Given the description of an element on the screen output the (x, y) to click on. 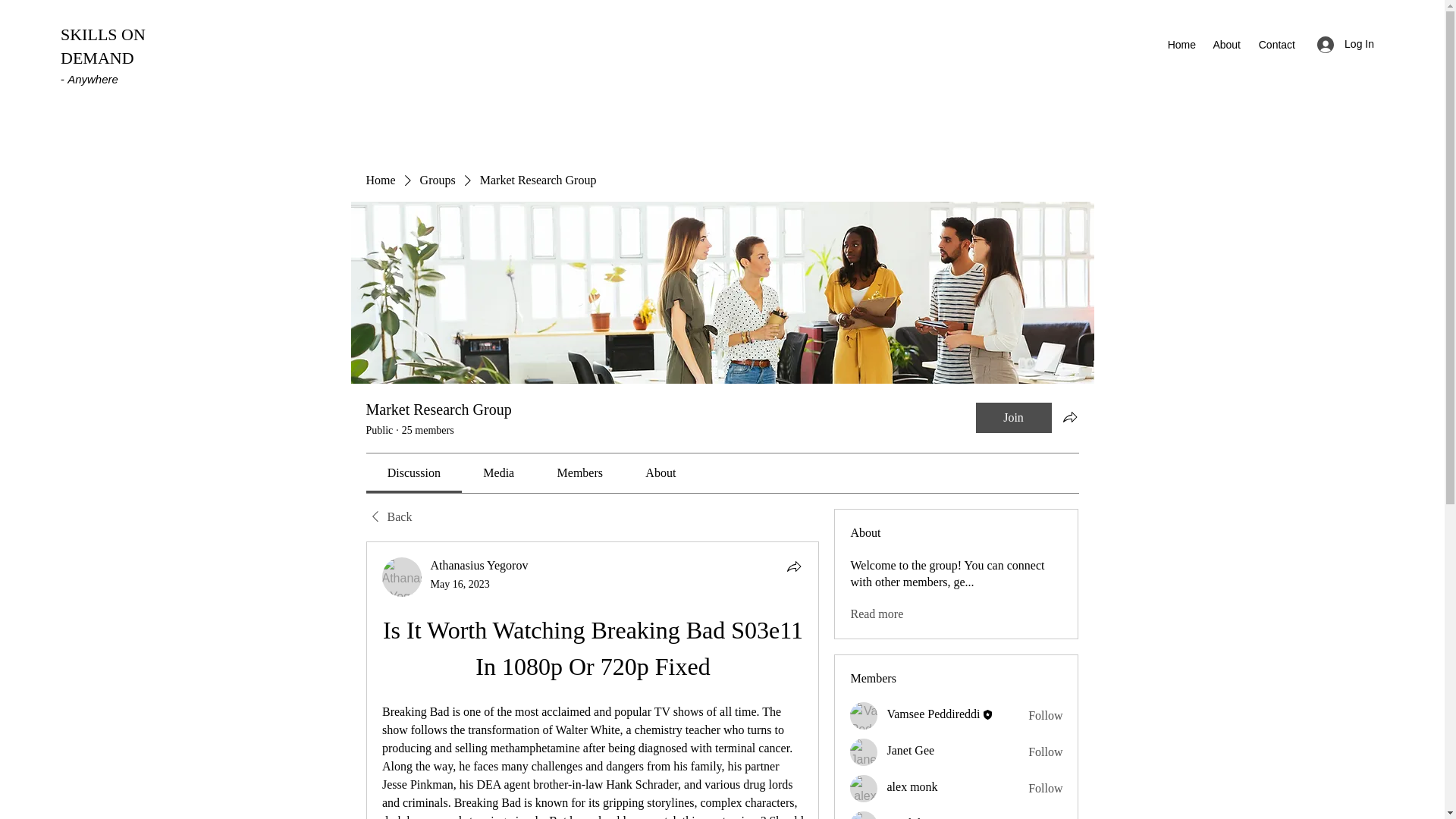
May 16, 2023 (459, 583)
Contact (1275, 44)
Back (388, 516)
Log In (1345, 44)
Janet Gee (910, 749)
alex monk (863, 788)
About (1225, 44)
SKILLS ON DEMAND (103, 46)
Follow (1044, 788)
Home (379, 180)
Join (1013, 417)
monk kevin earnest (863, 815)
Vamsee Peddireddi (932, 713)
monk kevin earnest (933, 817)
Janet Gee (863, 751)
